Given the description of an element on the screen output the (x, y) to click on. 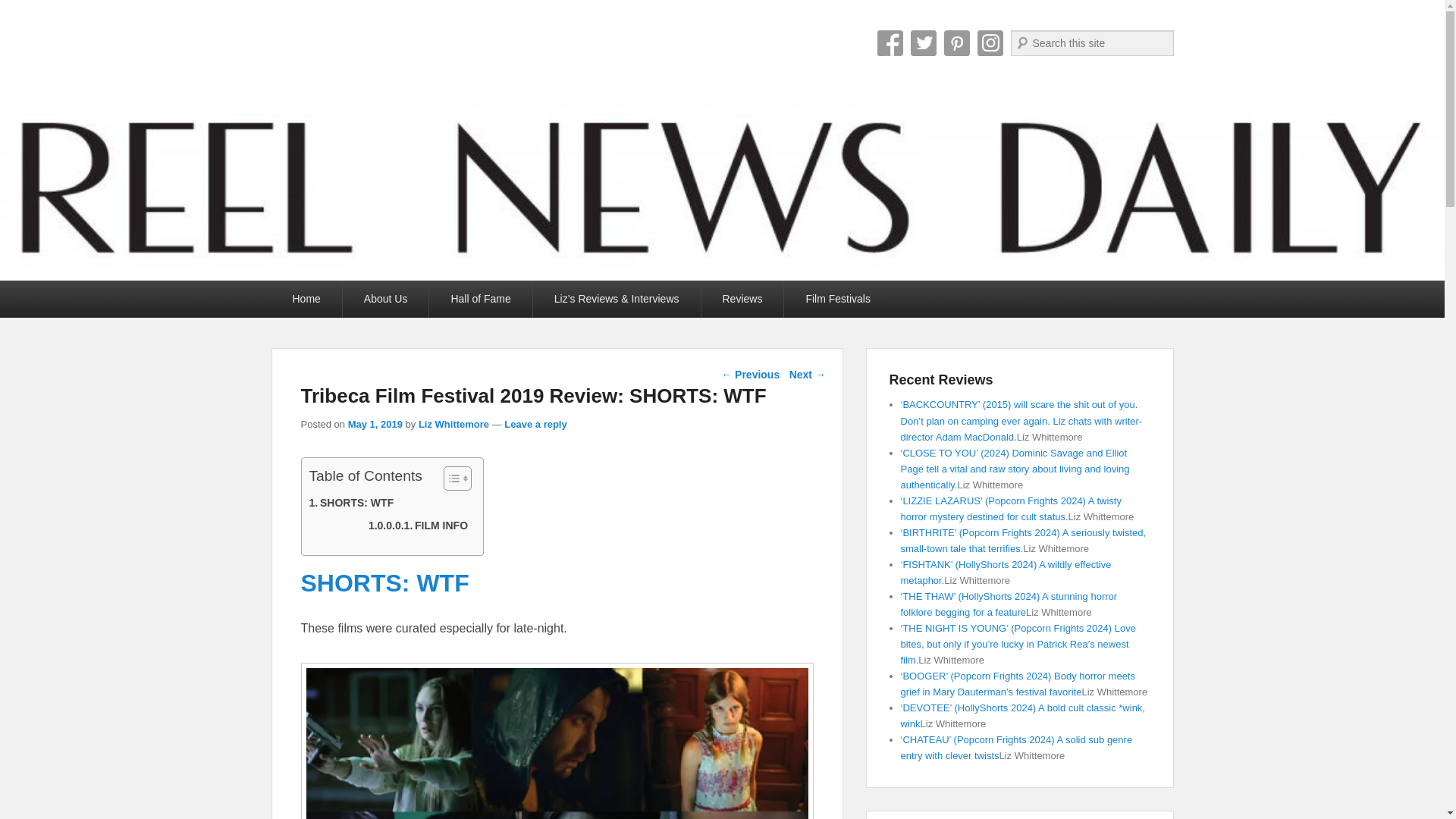
Film Festivals (837, 298)
Instagram (989, 43)
6:59 pm (375, 423)
Liz Whittemore (454, 423)
Instagram (989, 43)
About Us (385, 298)
Leave a reply (534, 423)
May 1, 2019 (375, 423)
Reel News Daily (404, 48)
Facebook (889, 43)
